Given the description of an element on the screen output the (x, y) to click on. 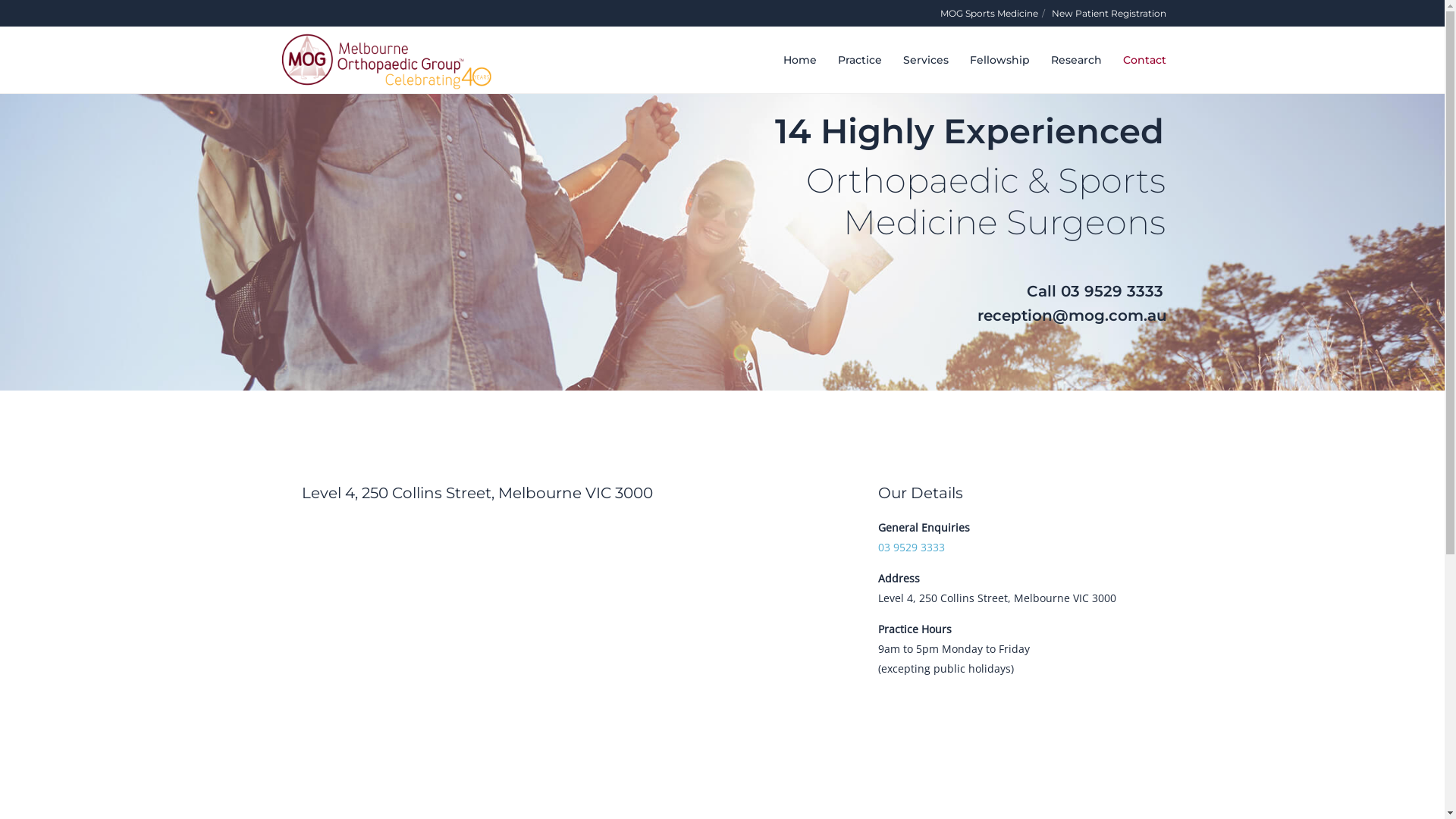
Call 03 9529 3333 Element type: text (1075, 294)
MOG Sports Medicine Element type: text (989, 12)
reception@mog.com.au Element type: text (1051, 319)
Home Element type: text (788, 59)
03 9529 3333 Element type: text (911, 546)
Research Element type: text (1065, 59)
Fellowship Element type: text (988, 59)
Services Element type: text (914, 59)
Contact Element type: text (1133, 59)
Practice Element type: text (848, 59)
New Patient Registration Element type: text (1108, 12)
